Given the description of an element on the screen output the (x, y) to click on. 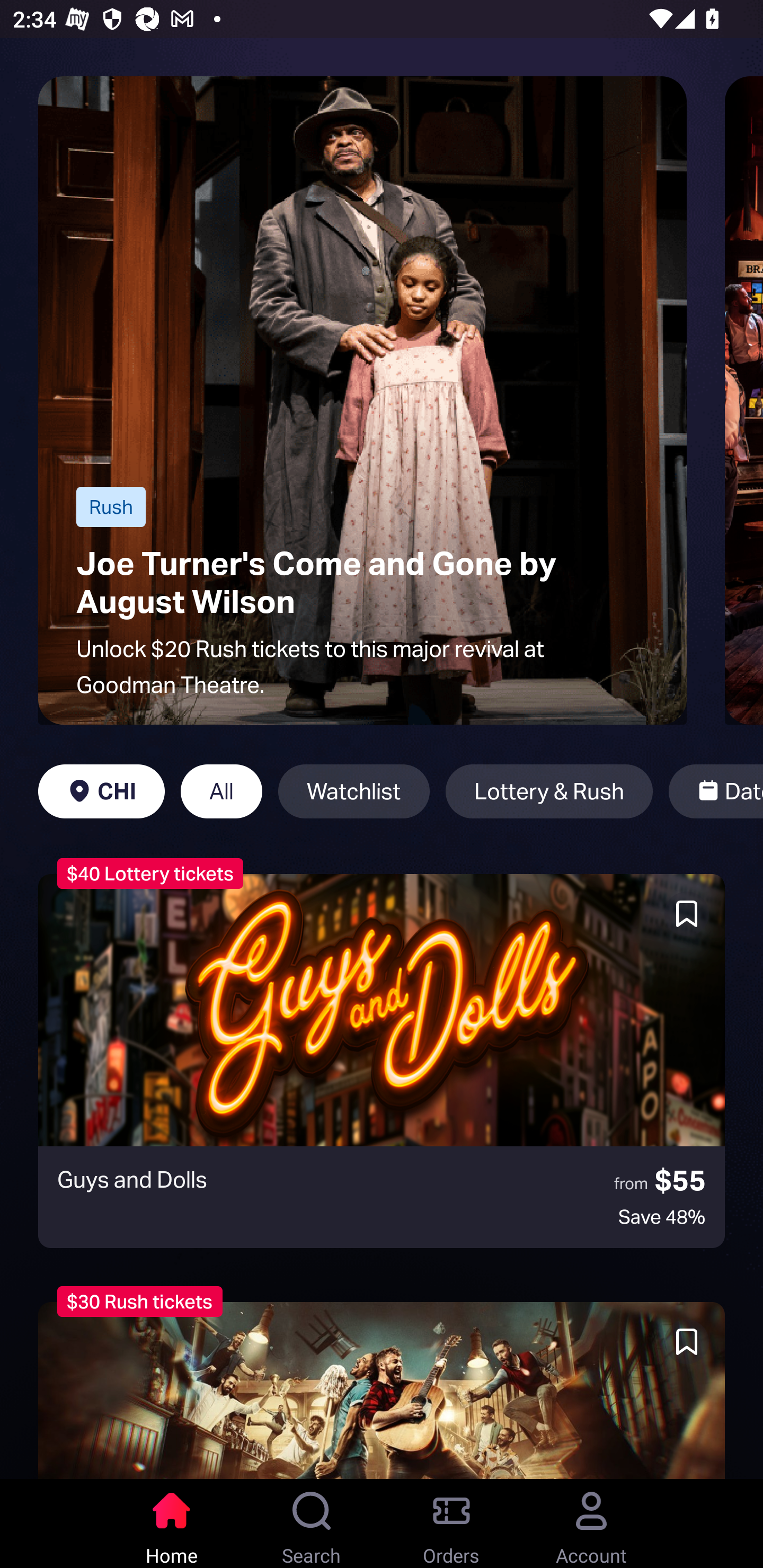
CHI (101, 791)
All (221, 791)
Watchlist (353, 791)
Lottery & Rush (549, 791)
Date (715, 791)
Guys and Dolls from $55 Save 48% (381, 1060)
Search (311, 1523)
Orders (451, 1523)
Account (591, 1523)
